Given the description of an element on the screen output the (x, y) to click on. 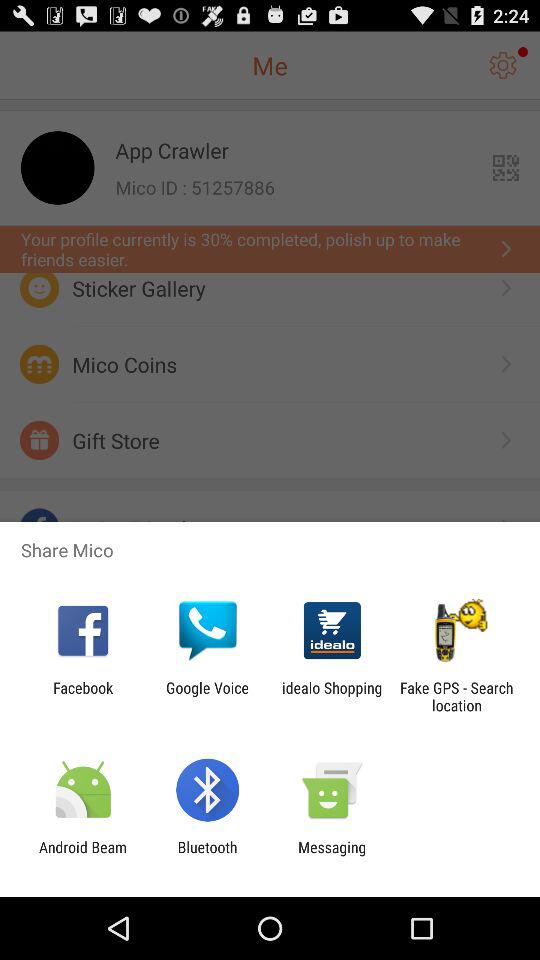
turn off the fake gps search app (456, 696)
